Given the description of an element on the screen output the (x, y) to click on. 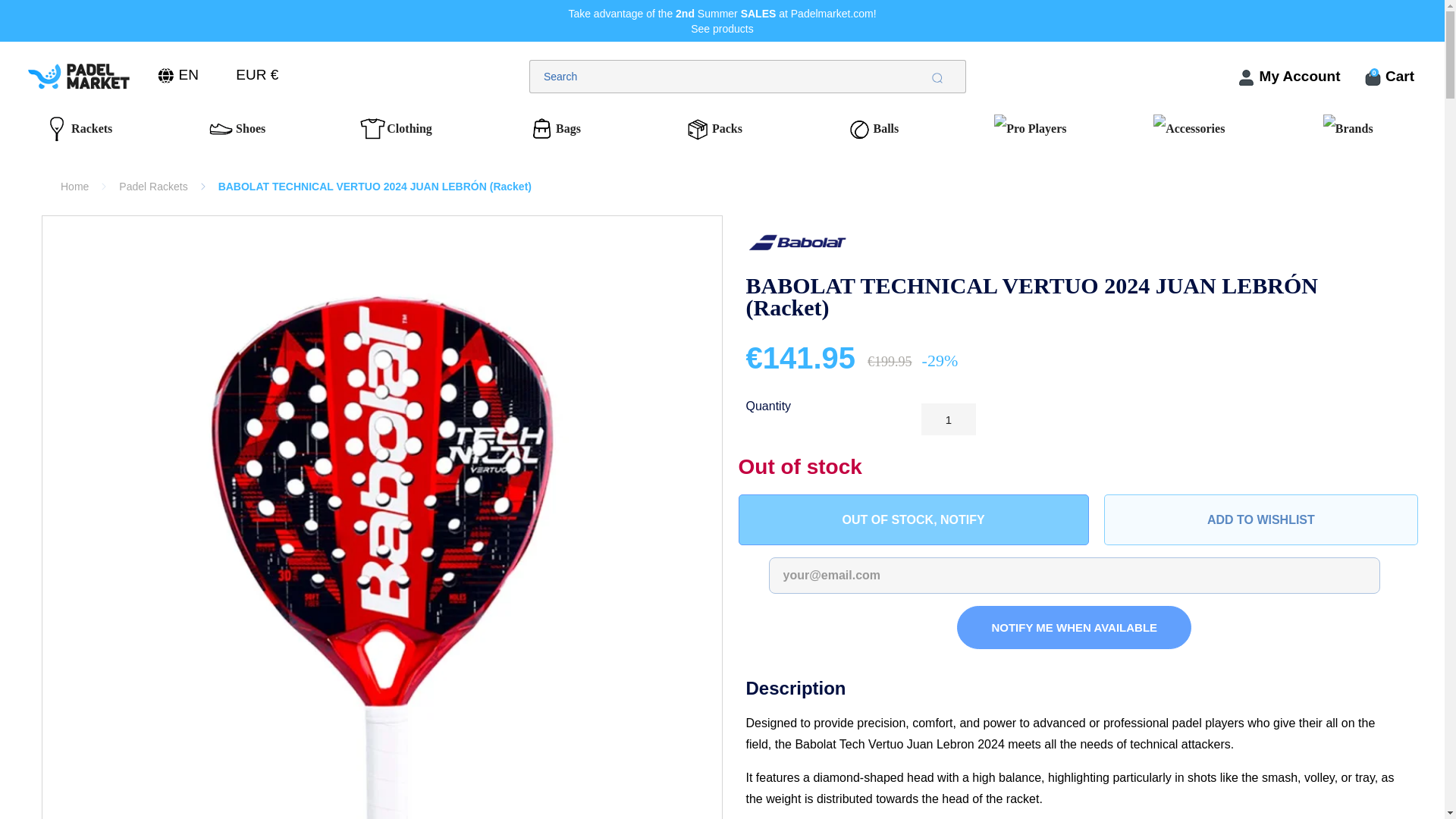
1 (948, 418)
Log in to your customer account (1287, 76)
Add to Wishlist (1260, 519)
See products (722, 28)
Take advantage of the 2nd Summer SALES at Padelmarket.com! (721, 13)
Rackets (86, 129)
